Given the description of an element on the screen output the (x, y) to click on. 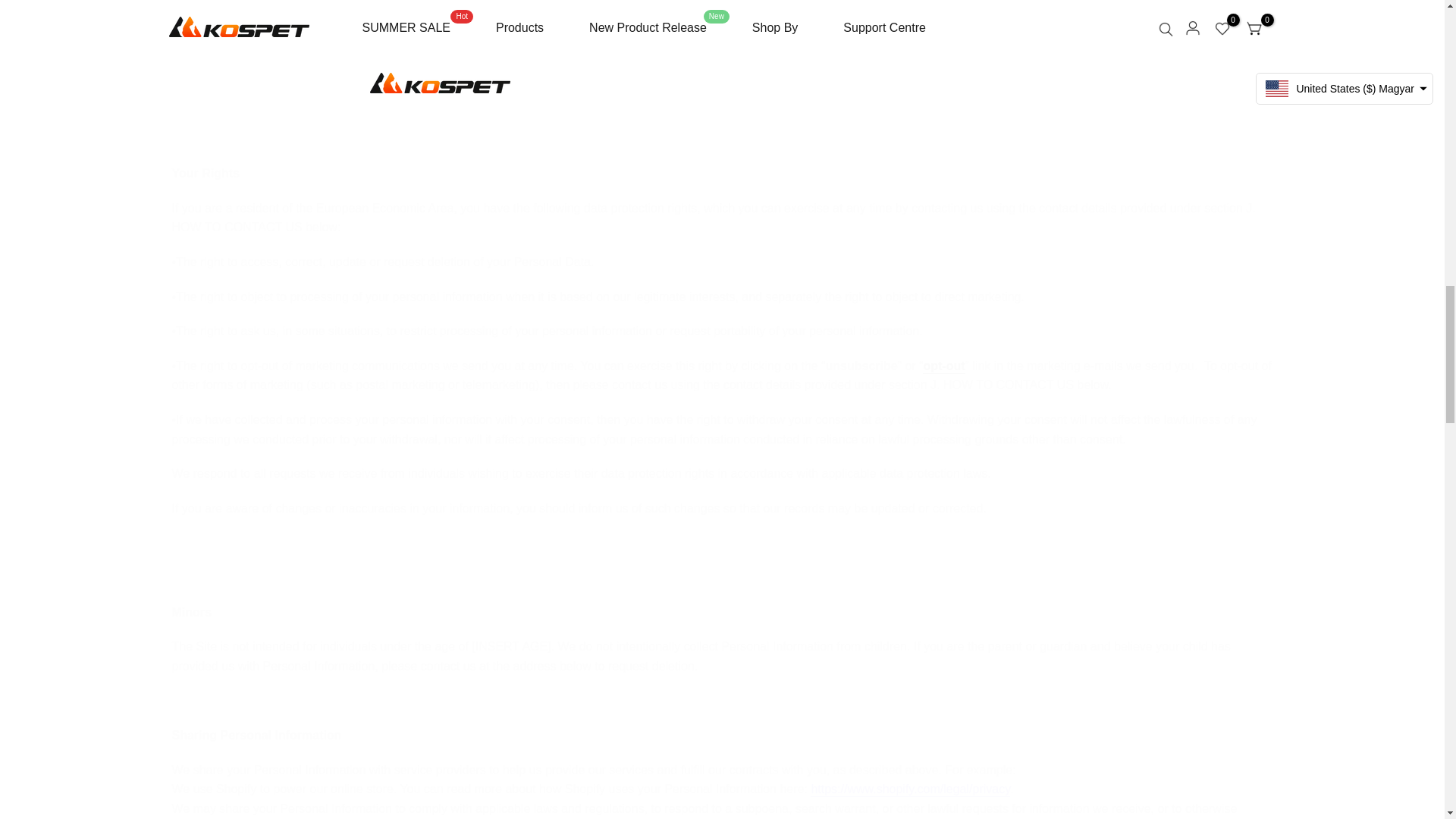
Do Not Sell My Personal Information (943, 366)
